Given the description of an element on the screen output the (x, y) to click on. 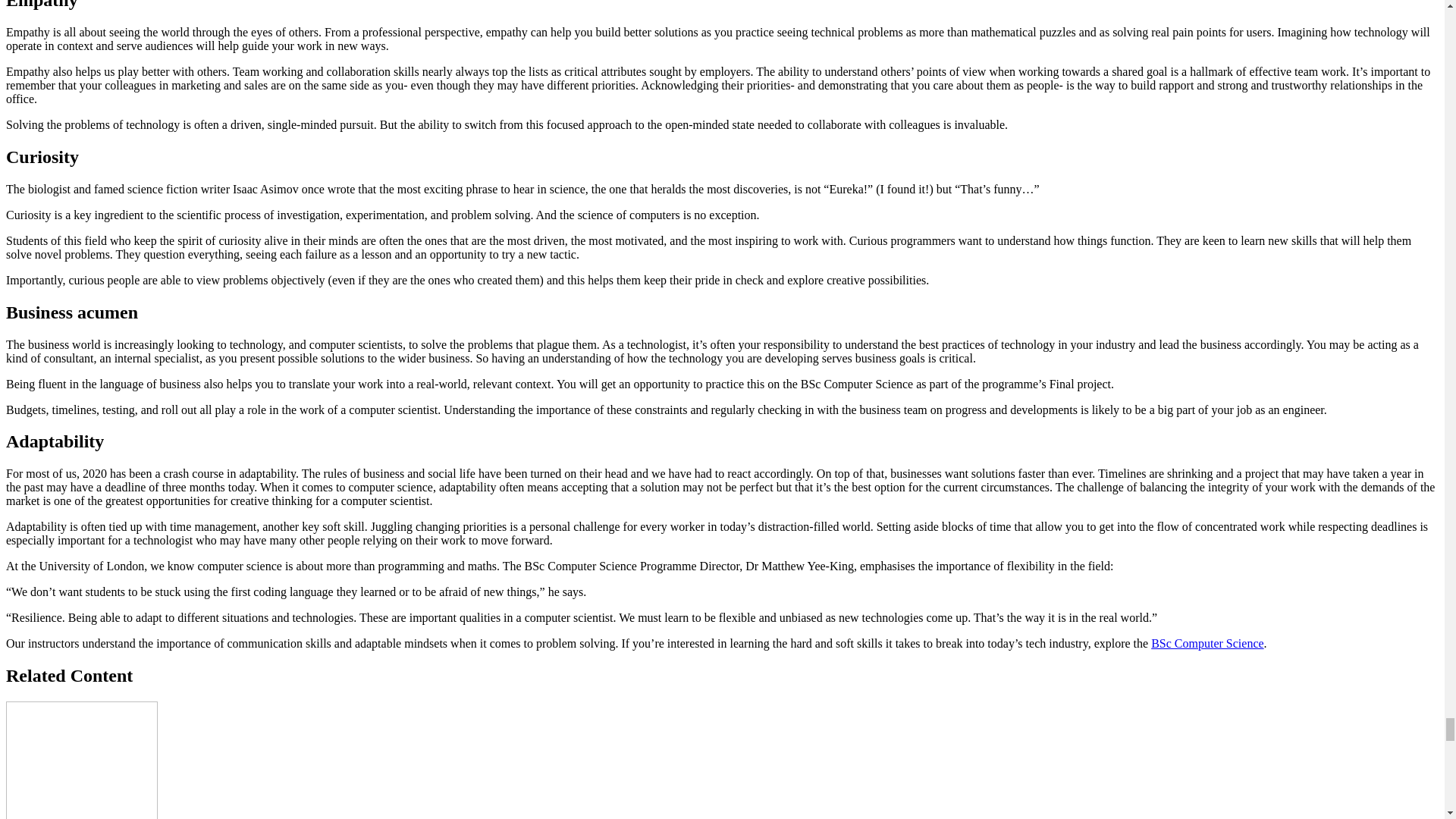
BSc Computer Science (1207, 643)
